Given the description of an element on the screen output the (x, y) to click on. 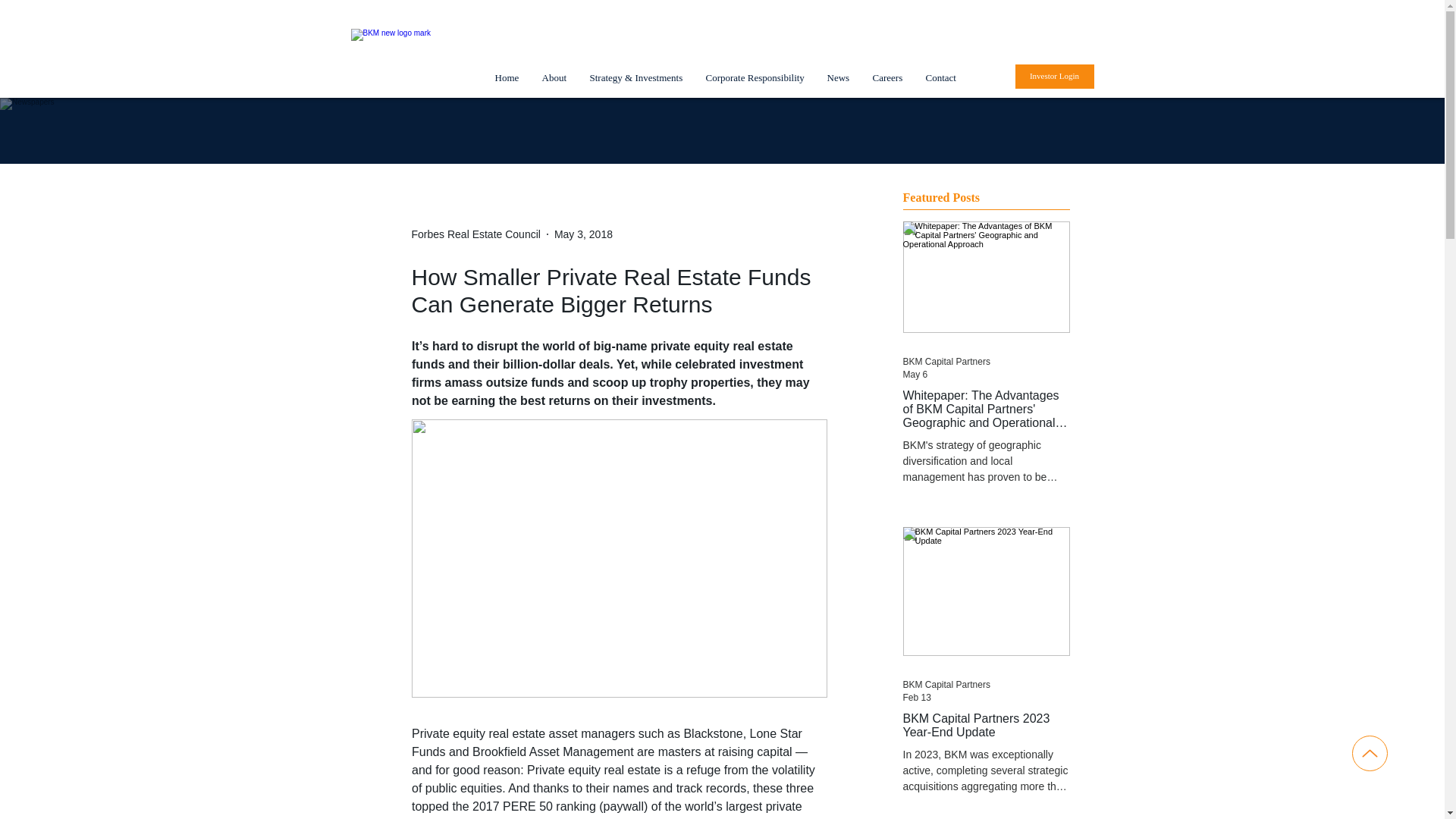
May 3, 2018 (583, 233)
Home (507, 77)
Corporate Responsibility (754, 77)
Feb 13 (916, 697)
BKM Capital Partners (946, 684)
Forbes Real Estate Council (475, 233)
About (554, 77)
News (838, 77)
May 6 (914, 374)
Investor Login (1053, 76)
